Given the description of an element on the screen output the (x, y) to click on. 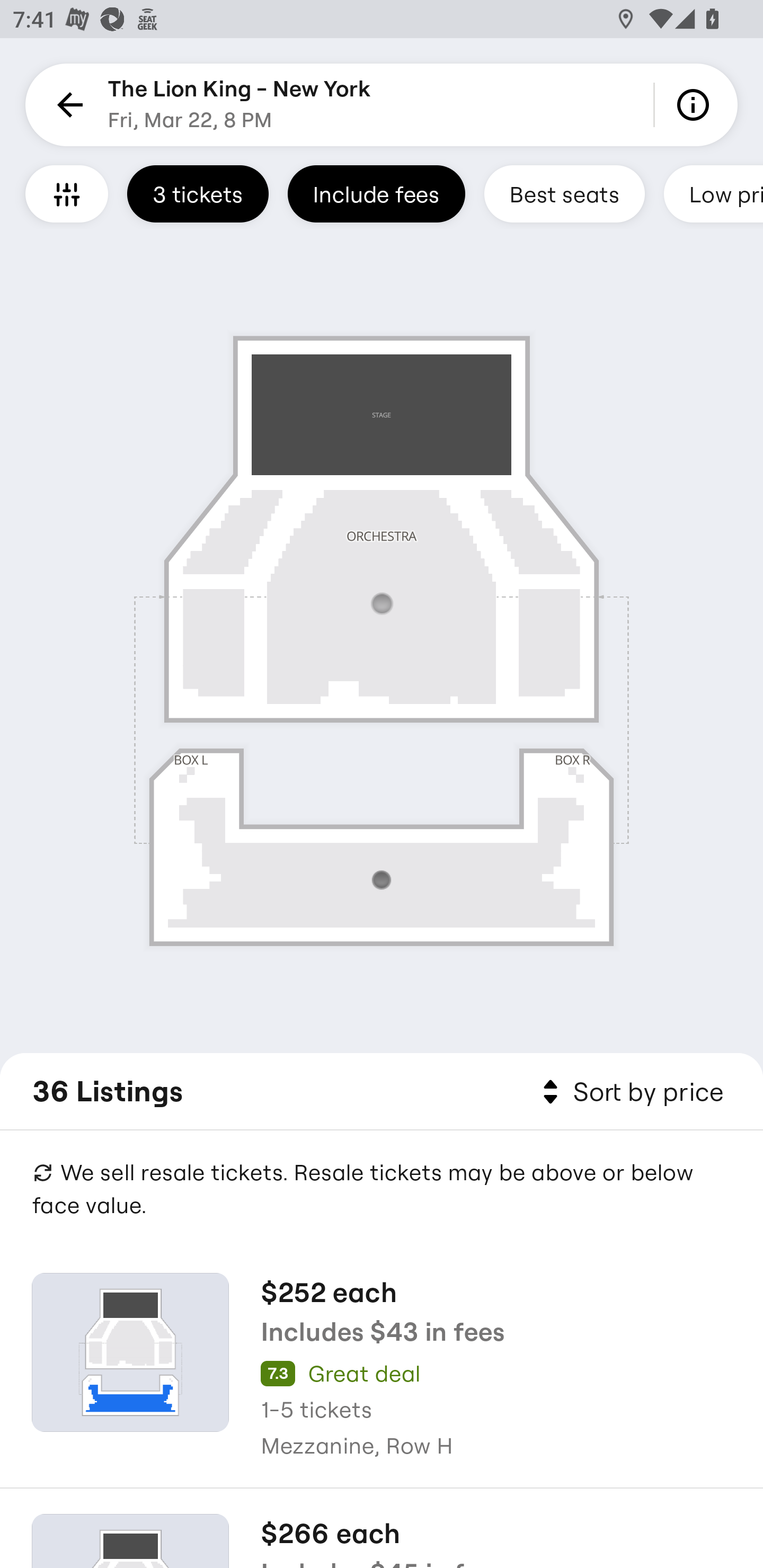
Back (66, 104)
The Lion King - New York Fri, Mar 22, 8 PM (239, 104)
Info (695, 104)
Filters and Accessible Seating (66, 193)
3 tickets (197, 193)
Include fees (376, 193)
Best seats (564, 193)
Low prices (713, 193)
Sort by price (629, 1091)
